Given the description of an element on the screen output the (x, y) to click on. 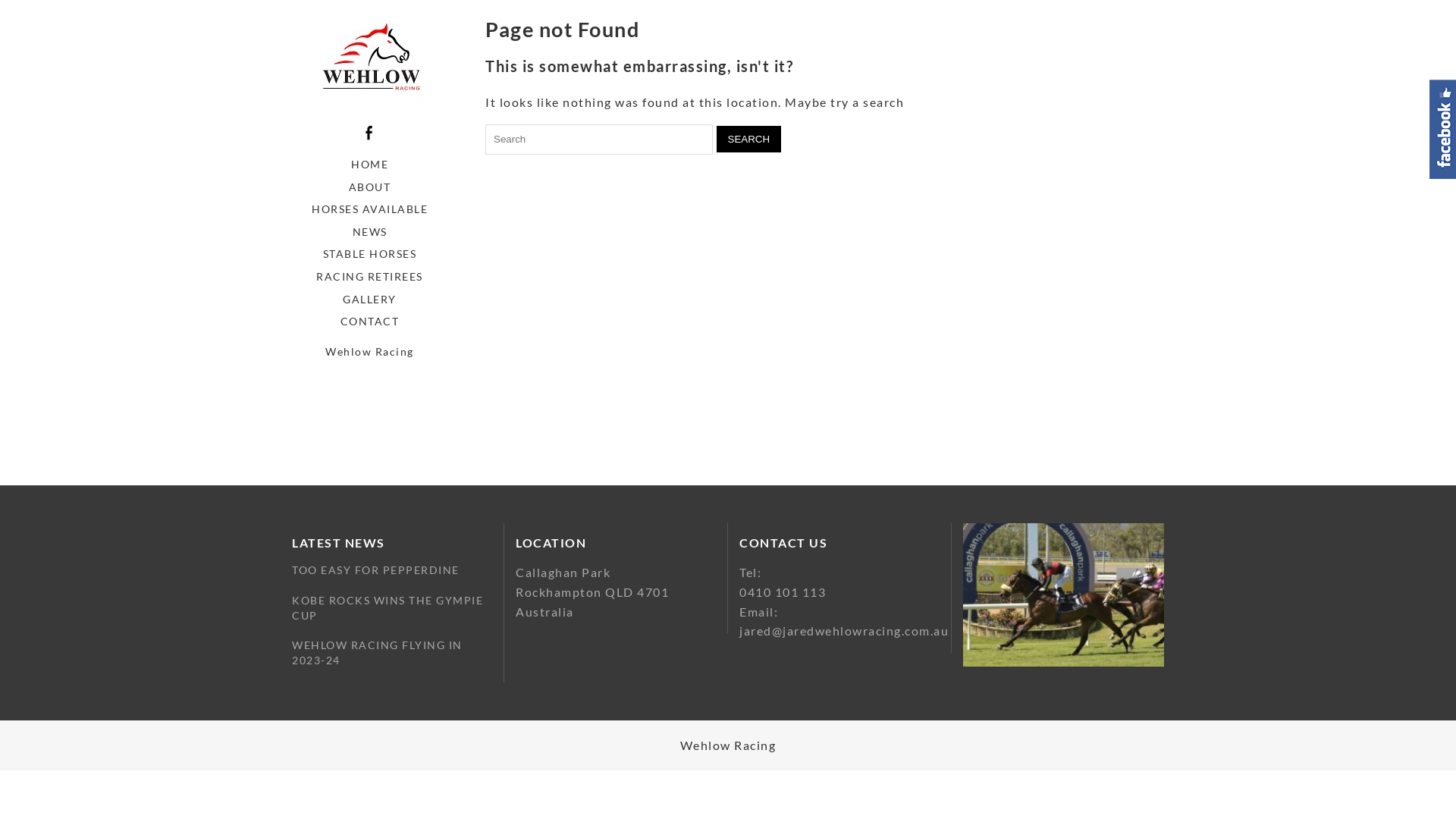
HOME Element type: text (369, 164)
TOO EASY FOR PEPPERDINE Element type: text (375, 569)
KOBE ROCKS WINS THE GYMPIE CUP Element type: text (391, 607)
GALLERY Element type: text (369, 299)
RACING RETIREES Element type: text (369, 276)
WEHLOW RACING FLYING IN 2023-24 Element type: text (391, 652)
STABLE HORSES Element type: text (369, 253)
CONTACT Element type: text (369, 321)
0410 101 113 Element type: text (782, 591)
NEWS Element type: text (369, 231)
ABOUT Element type: text (369, 186)
SEARCH Element type: text (748, 138)
HORSES AVAILABLE Element type: text (369, 208)
jared@jaredwehlowracing.com.au Element type: text (843, 630)
